Given the description of an element on the screen output the (x, y) to click on. 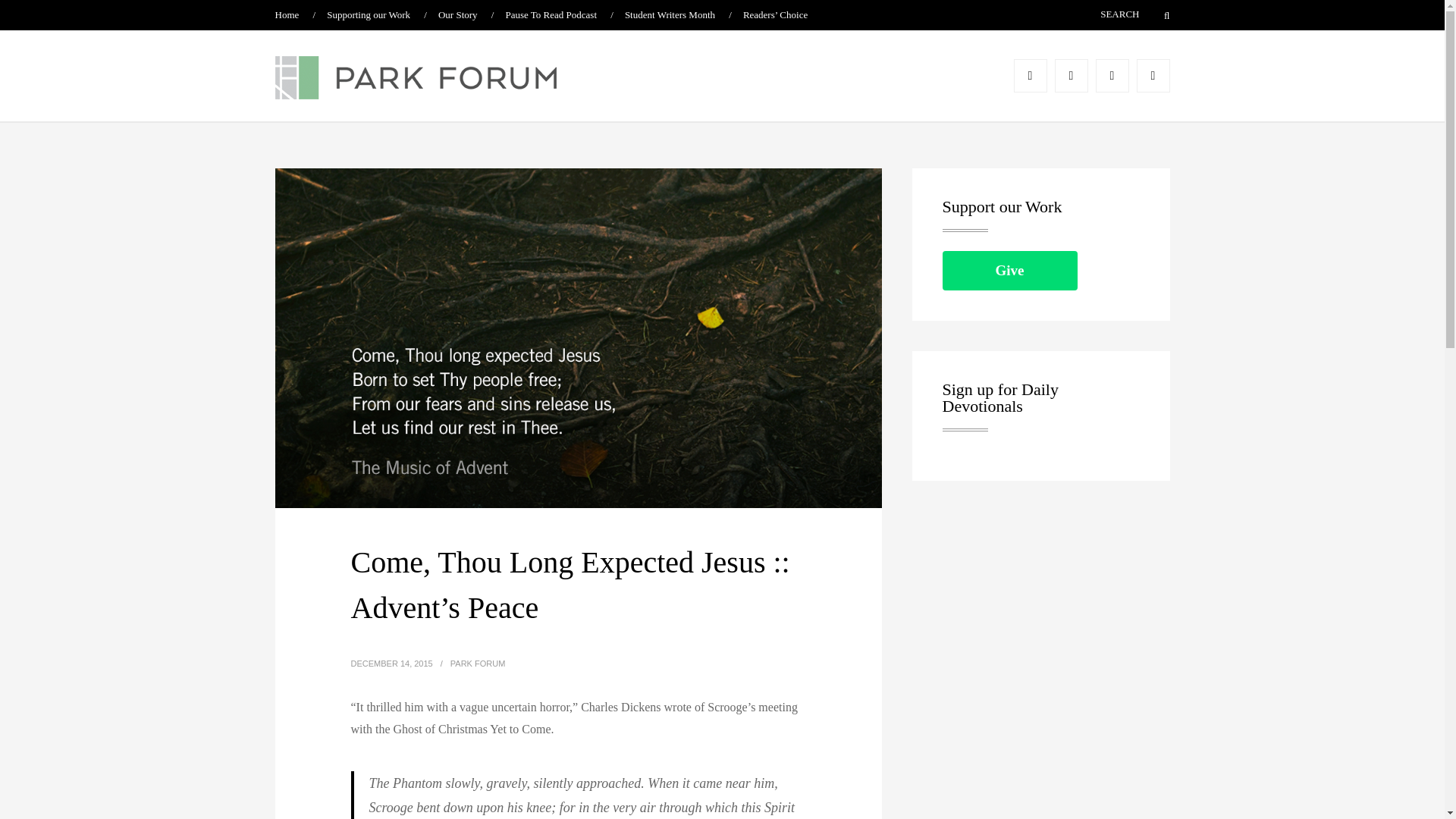
Student Writers Month (669, 14)
Our Story (457, 14)
SEARCH (1096, 14)
Search (1158, 15)
Home (286, 14)
Give (1009, 270)
Supporting our Work (368, 14)
Pause To Read Podcast (550, 14)
